Given the description of an element on the screen output the (x, y) to click on. 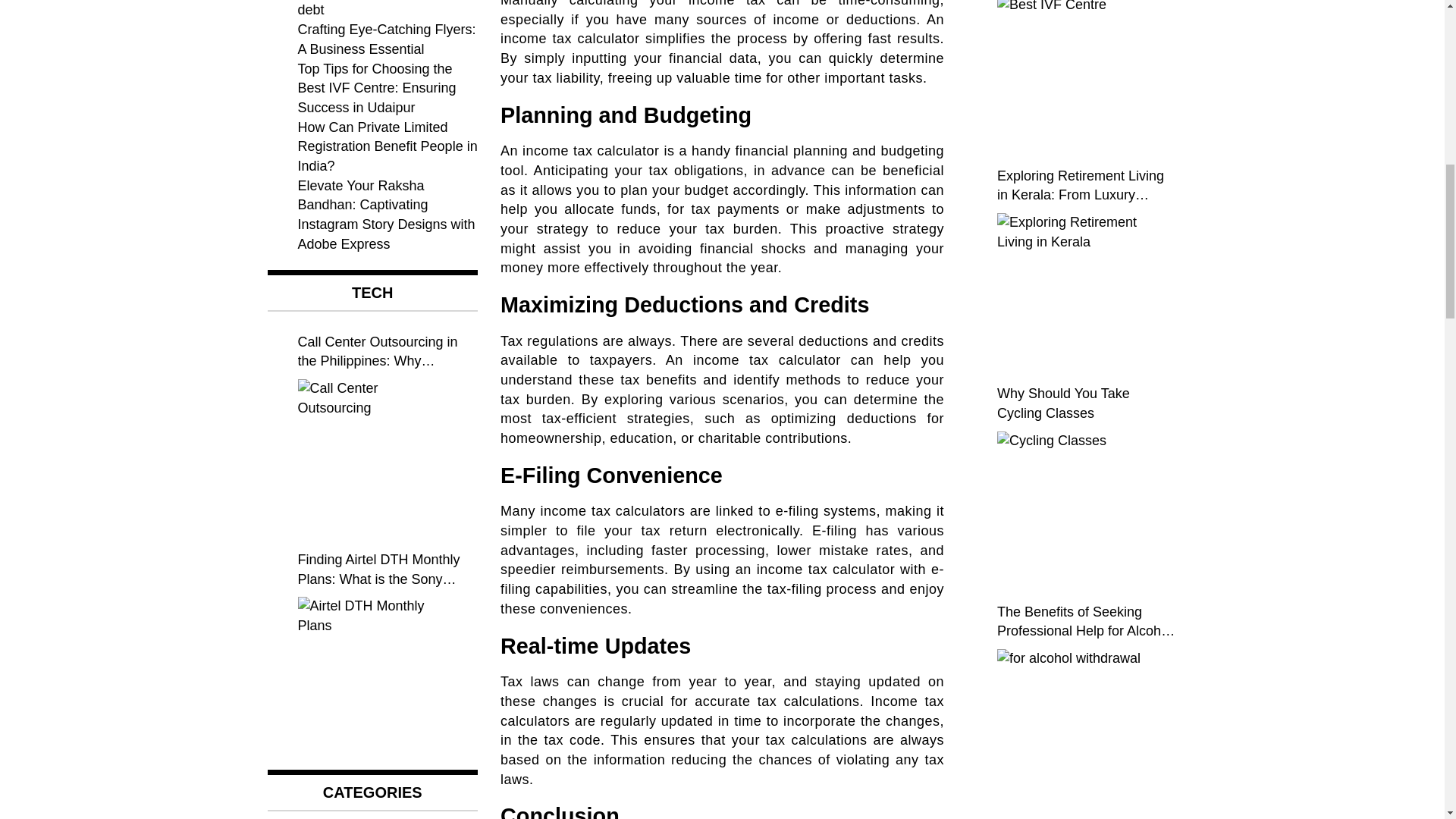
Crafting Eye-Catching Flyers: A Business Essential (386, 39)
Why Should You Take Cycling Classes (1072, 507)
